Given the description of an element on the screen output the (x, y) to click on. 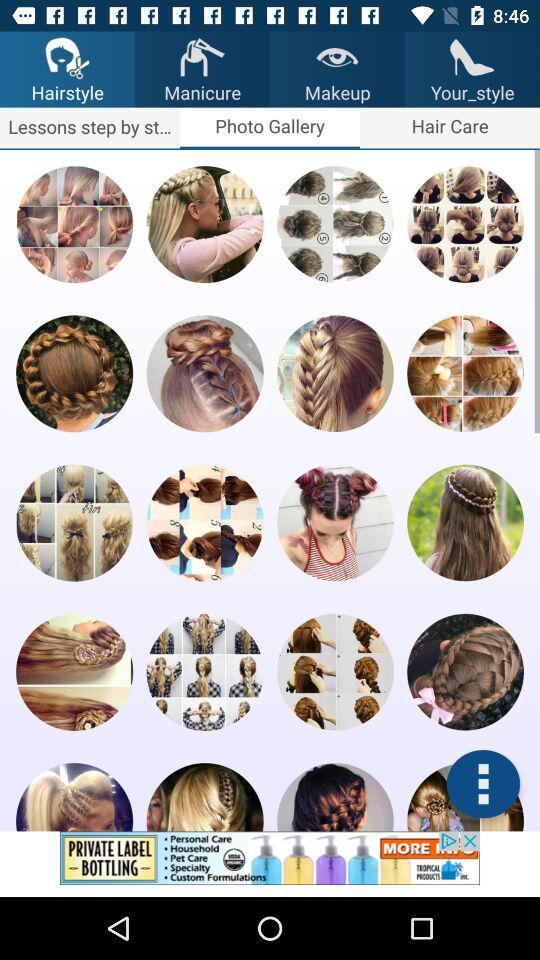
open advertisement page (270, 864)
